Given the description of an element on the screen output the (x, y) to click on. 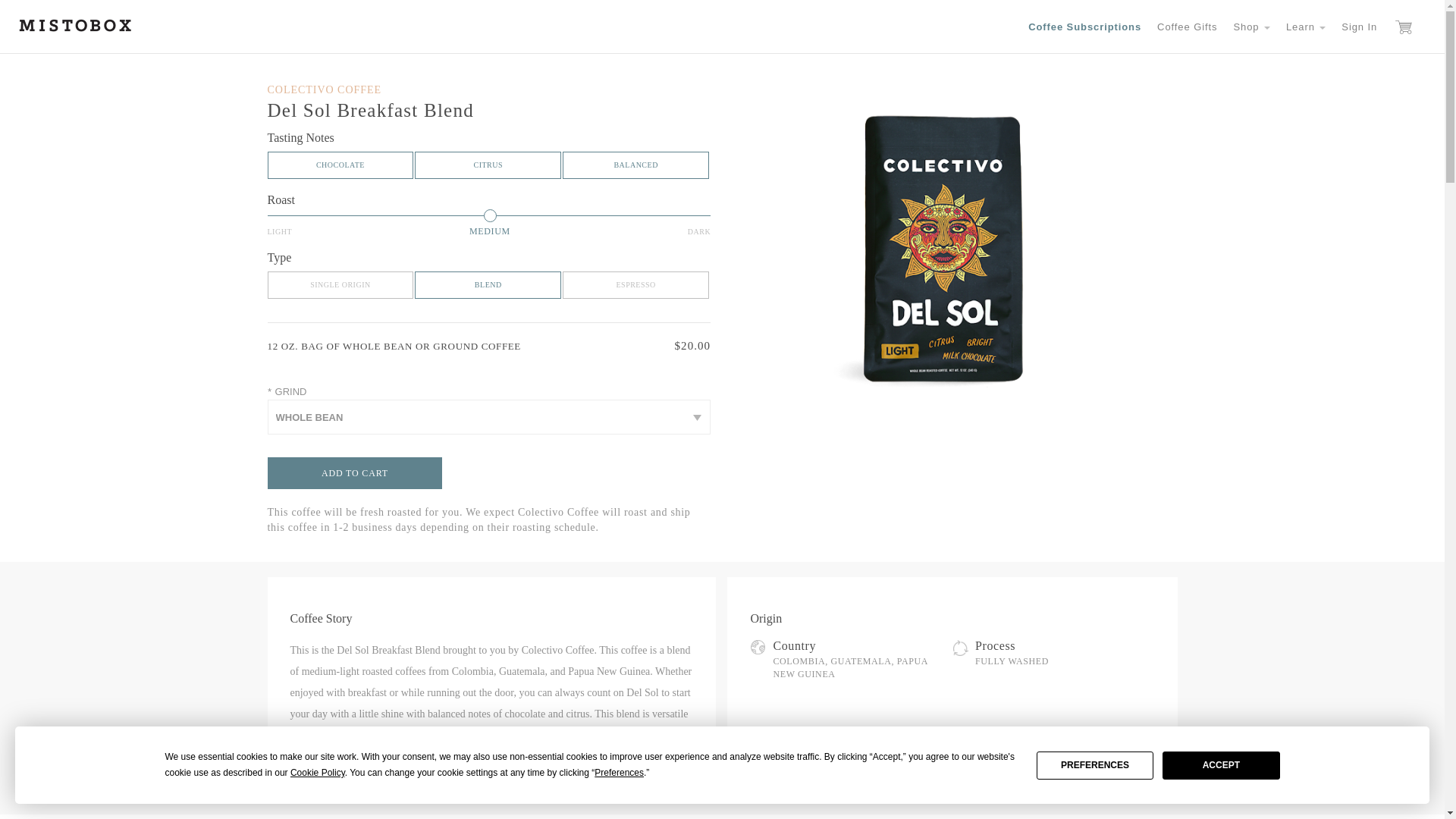
Coffee Gifts (1187, 26)
MistoBox (75, 24)
quiz (1084, 26)
ACCEPT (1220, 764)
Sign In (1358, 26)
Coffee Subscriptions (1084, 26)
PREFERENCES (1094, 764)
Learn (1305, 26)
Gift (1187, 26)
Sign In (1358, 26)
Shop (1251, 26)
